Given the description of an element on the screen output the (x, y) to click on. 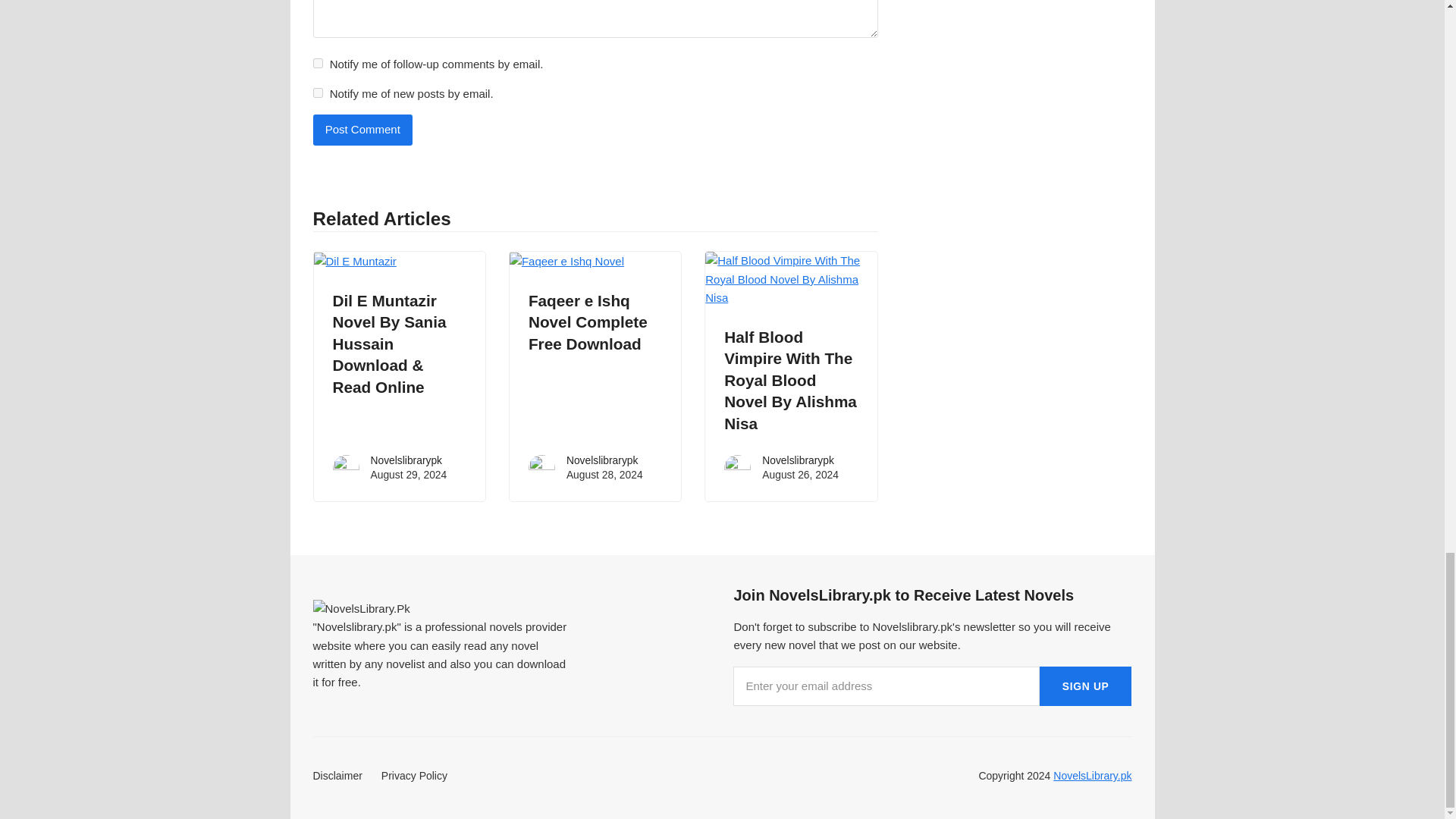
Post Comment (362, 129)
Post Comment (362, 129)
subscribe (317, 62)
subscribe (317, 92)
NovelsLibrary.Pk (361, 608)
Faqeer e Ishq Novel Complete Free Download (587, 321)
